Given the description of an element on the screen output the (x, y) to click on. 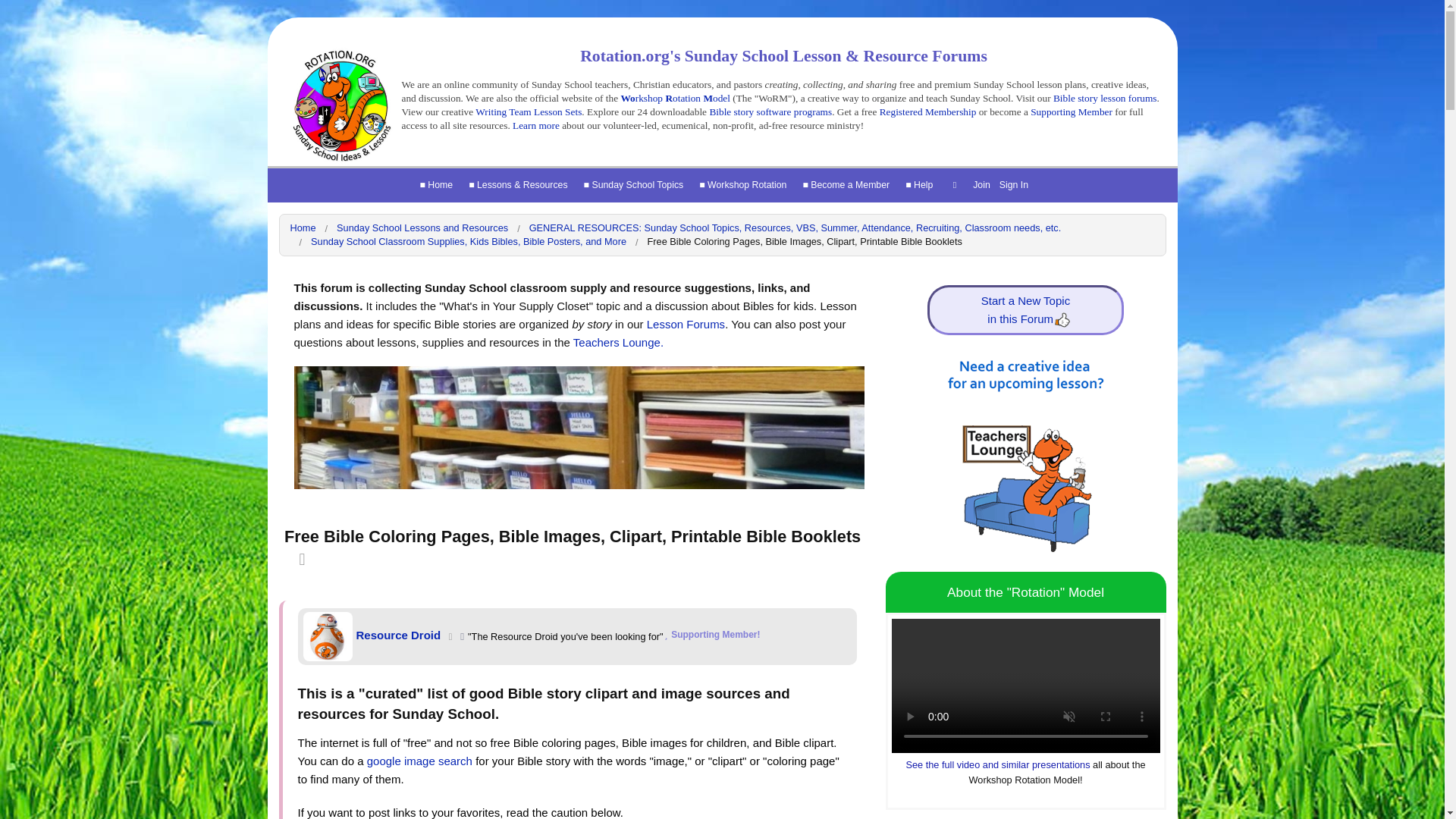
Bible story lesson forums (1104, 98)
Bible story software programs (770, 111)
Supporting Member (1071, 111)
Writing Team Lesson Sets (528, 111)
Workshop Rotation Model (674, 98)
Learn more (537, 125)
Registered Membership (927, 111)
Resource Droid (327, 635)
